Given the description of an element on the screen output the (x, y) to click on. 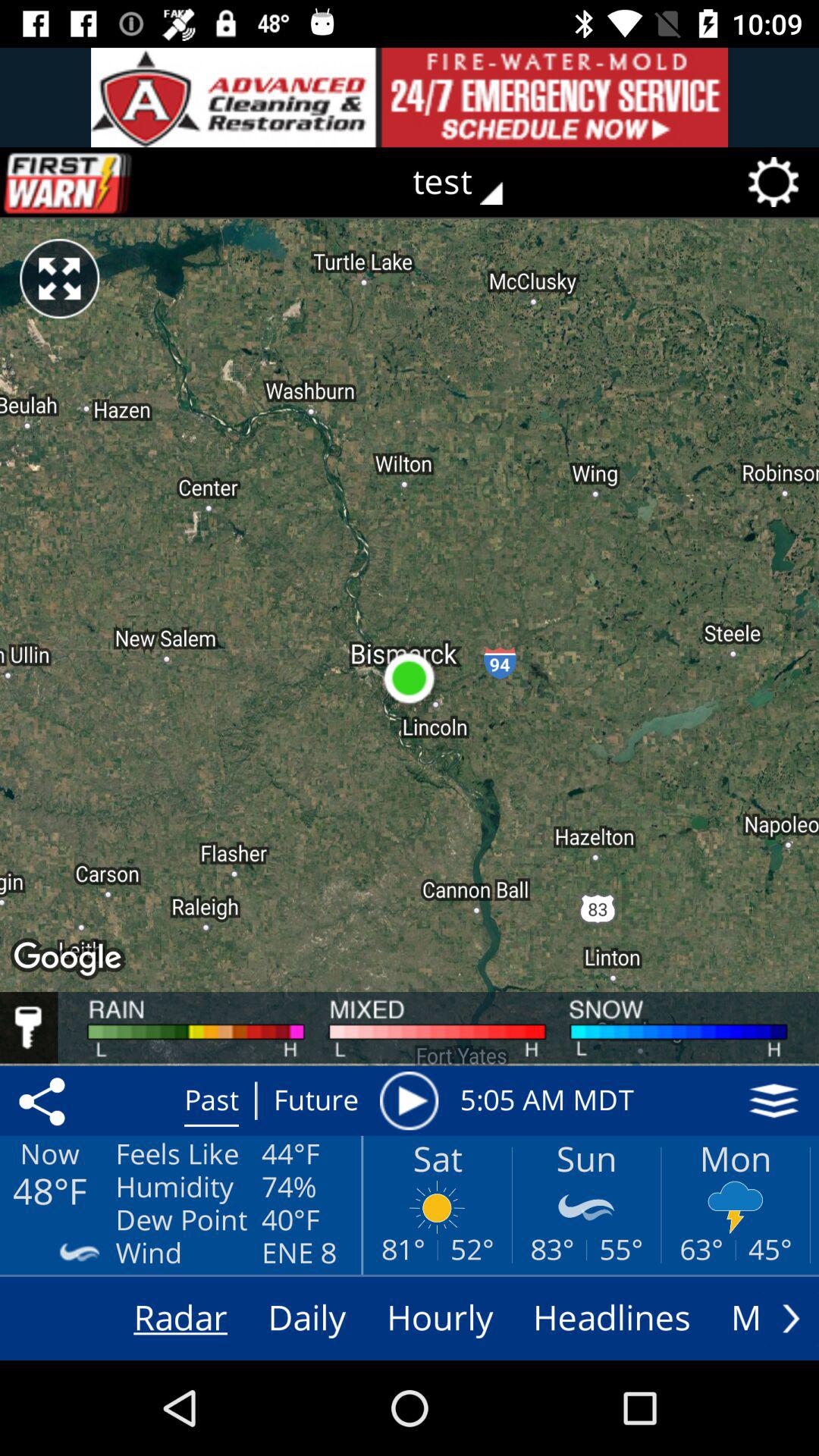
share weather report (44, 1100)
